Given the description of an element on the screen output the (x, y) to click on. 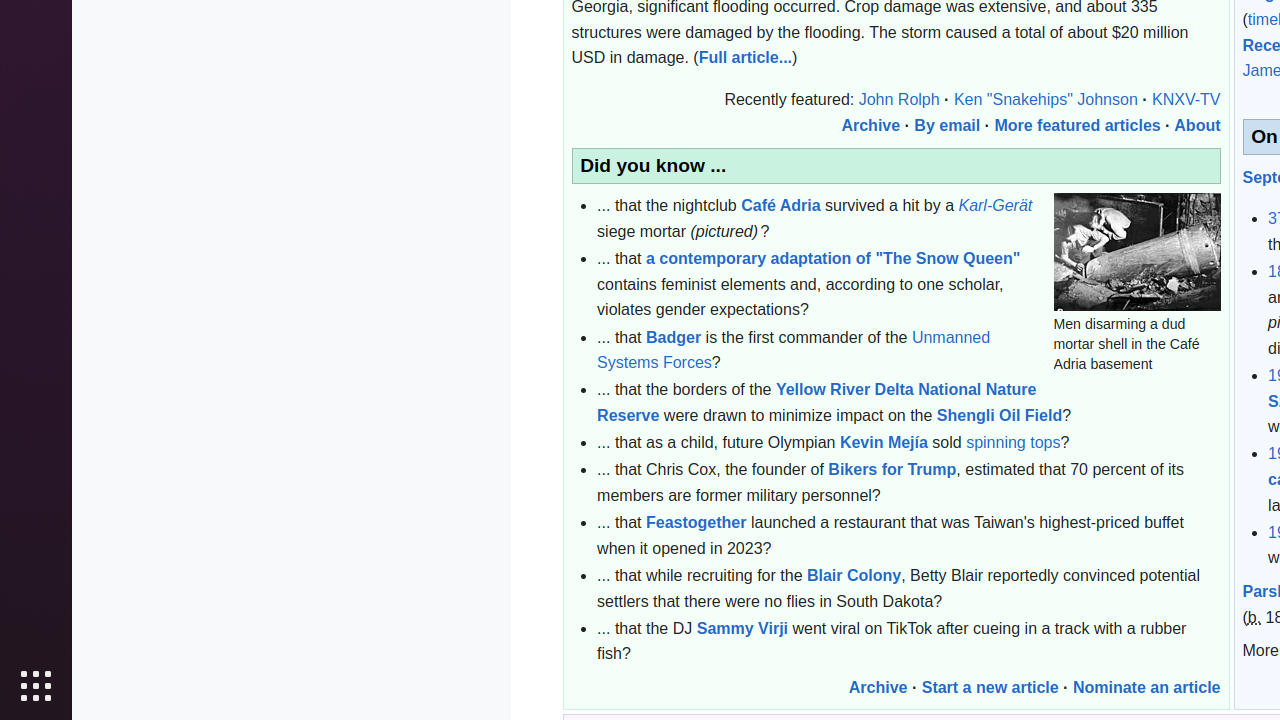
More featured articles Element type: link (1077, 125)
Yellow River Delta National Nature Reserve Element type: link (817, 403)
Feastogether Element type: link (696, 523)
Café Adria Element type: link (781, 206)
Shengli Oil Field Element type: link (999, 416)
